Given the description of an element on the screen output the (x, y) to click on. 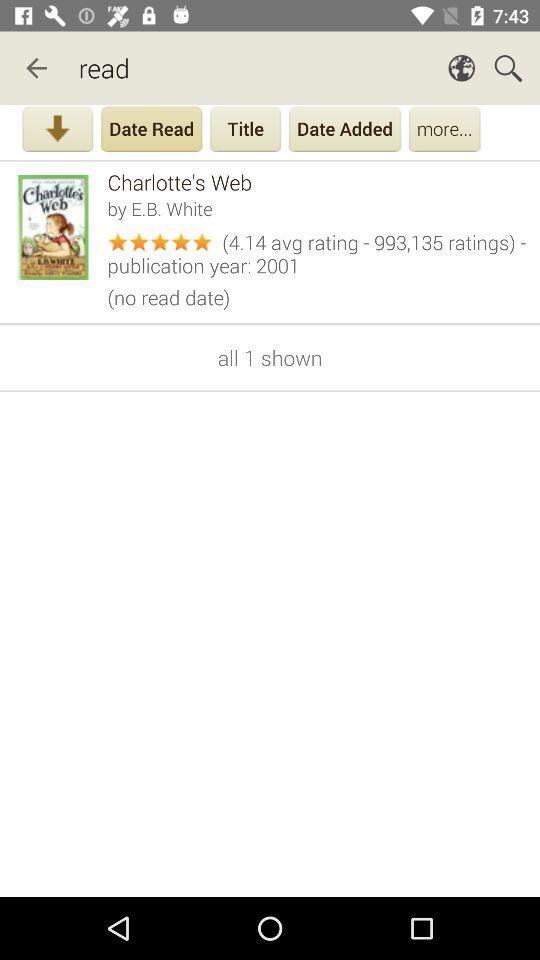
launch item next to read app (36, 68)
